Given the description of an element on the screen output the (x, y) to click on. 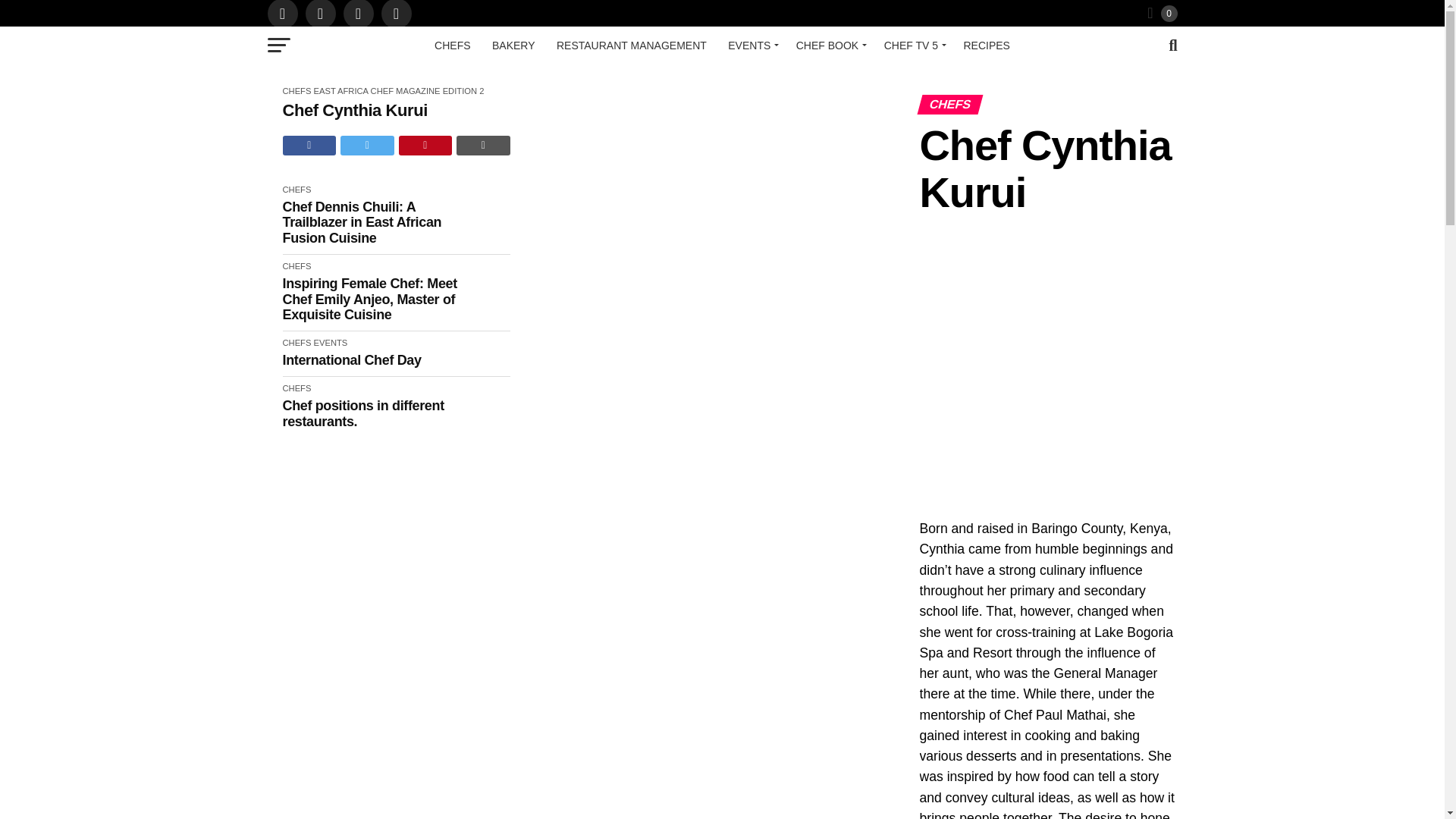
Share on Facebook (309, 144)
Pin This Post (425, 144)
Tweet This Post (367, 144)
